Given the description of an element on the screen output the (x, y) to click on. 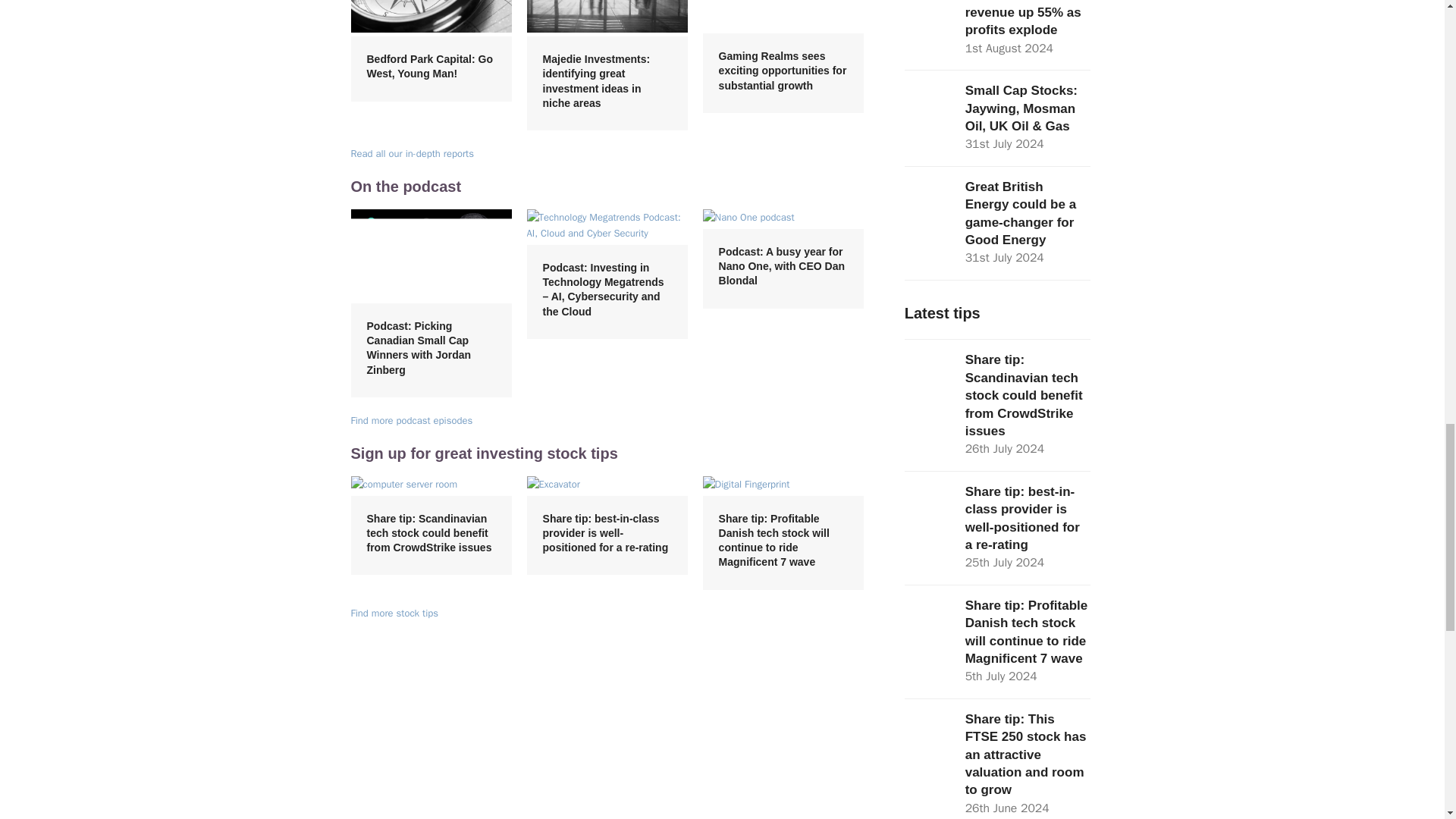
Podcast: A busy year for Nano One, with CEO Dan Blondal (748, 217)
